Given the description of an element on the screen output the (x, y) to click on. 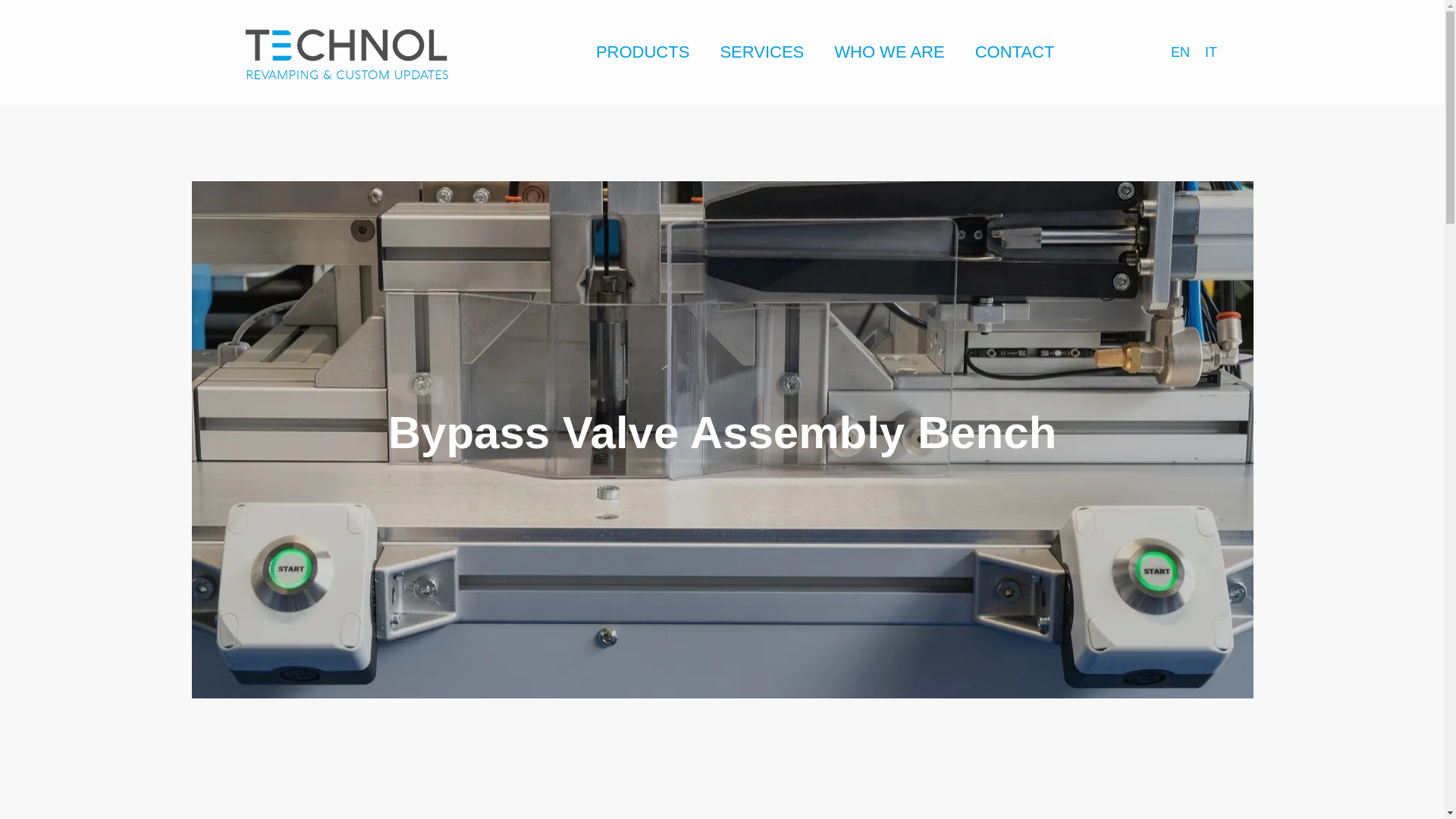
IT (1210, 51)
SERVICES (761, 52)
PRODUCTS (642, 52)
EN (1179, 51)
WHO WE ARE (888, 52)
CONTACT (1014, 52)
